Given the description of an element on the screen output the (x, y) to click on. 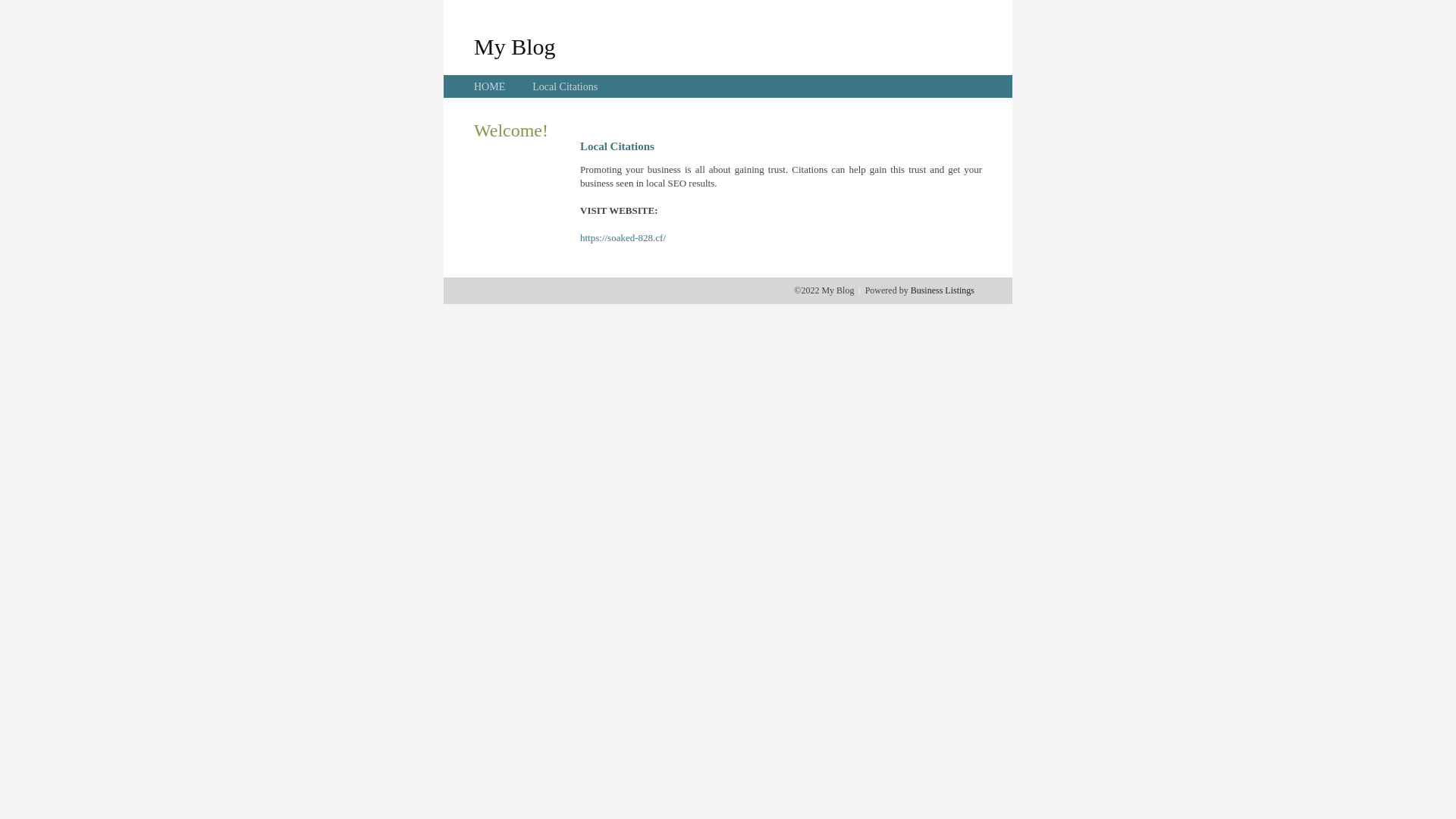
HOME Element type: text (489, 86)
My Blog Element type: text (514, 46)
Business Listings Element type: text (942, 290)
https://soaked-828.cf/ Element type: text (622, 237)
Local Citations Element type: text (564, 86)
